Given the description of an element on the screen output the (x, y) to click on. 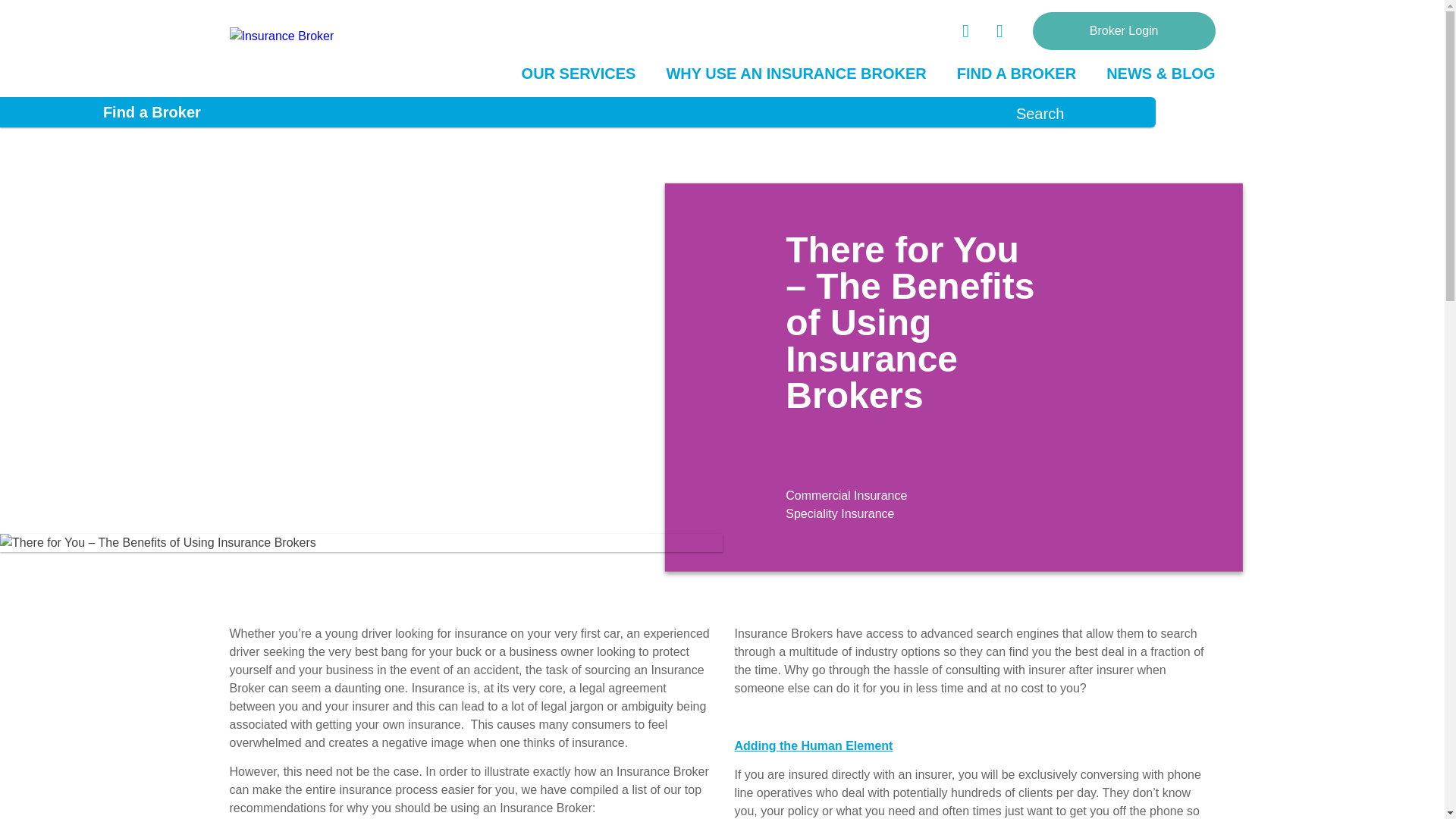
Broker login (1123, 30)
WHY USE AN INSURANCE BROKER (795, 73)
Search (1040, 112)
Speciality Insurance (839, 513)
FIND A BROKER (1015, 73)
OUR SERVICES (578, 73)
Broker Login (1123, 30)
Commercial Insurance (846, 495)
Search (1040, 112)
